Given the description of an element on the screen output the (x, y) to click on. 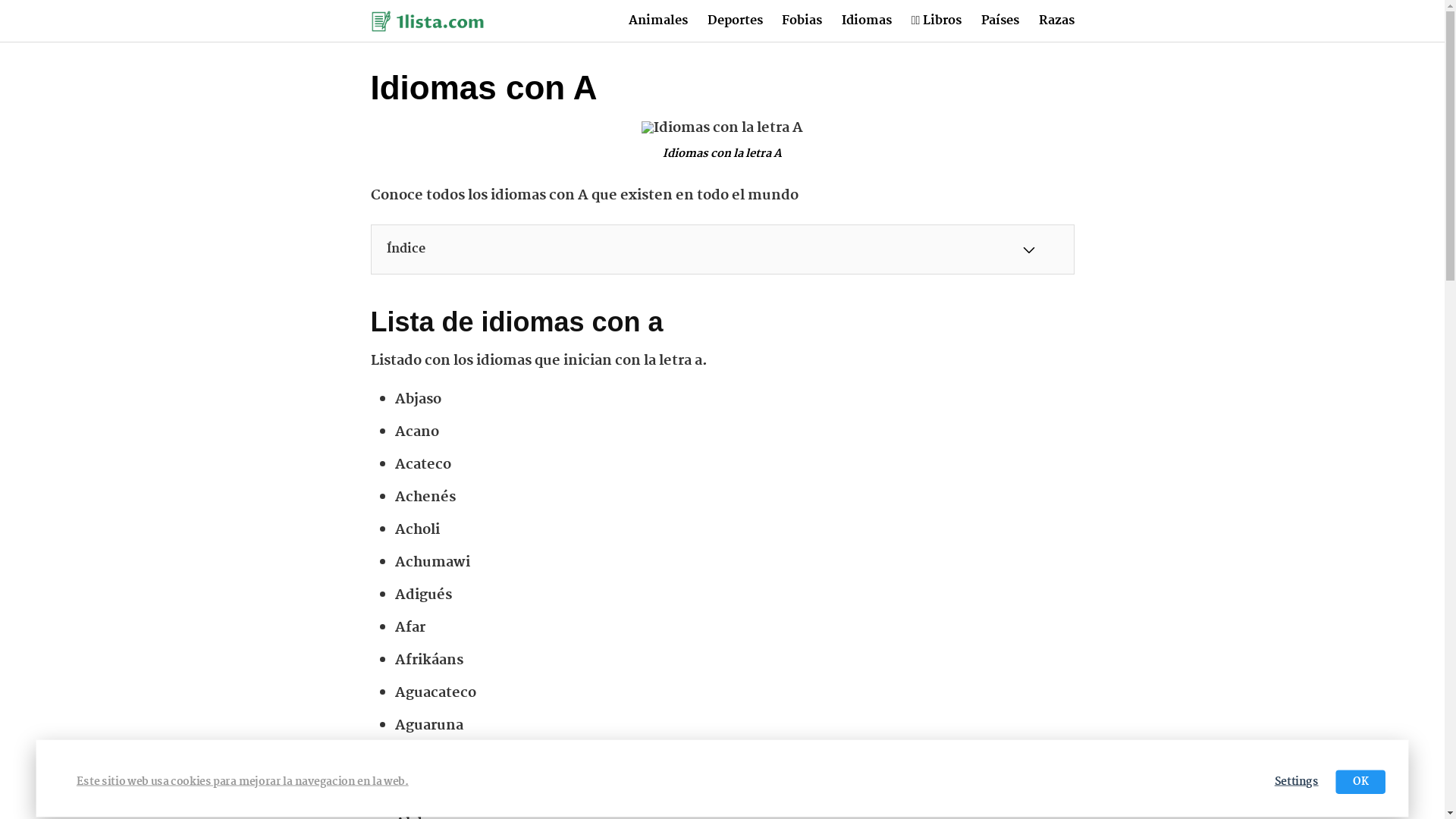
Idiomas Element type: text (866, 20)
Settings Element type: text (1298, 781)
Fobias Element type: text (801, 20)
Razas Element type: text (1056, 20)
OK Element type: text (1361, 781)
Deportes Element type: text (734, 20)
Animales Element type: text (657, 20)
